Given the description of an element on the screen output the (x, y) to click on. 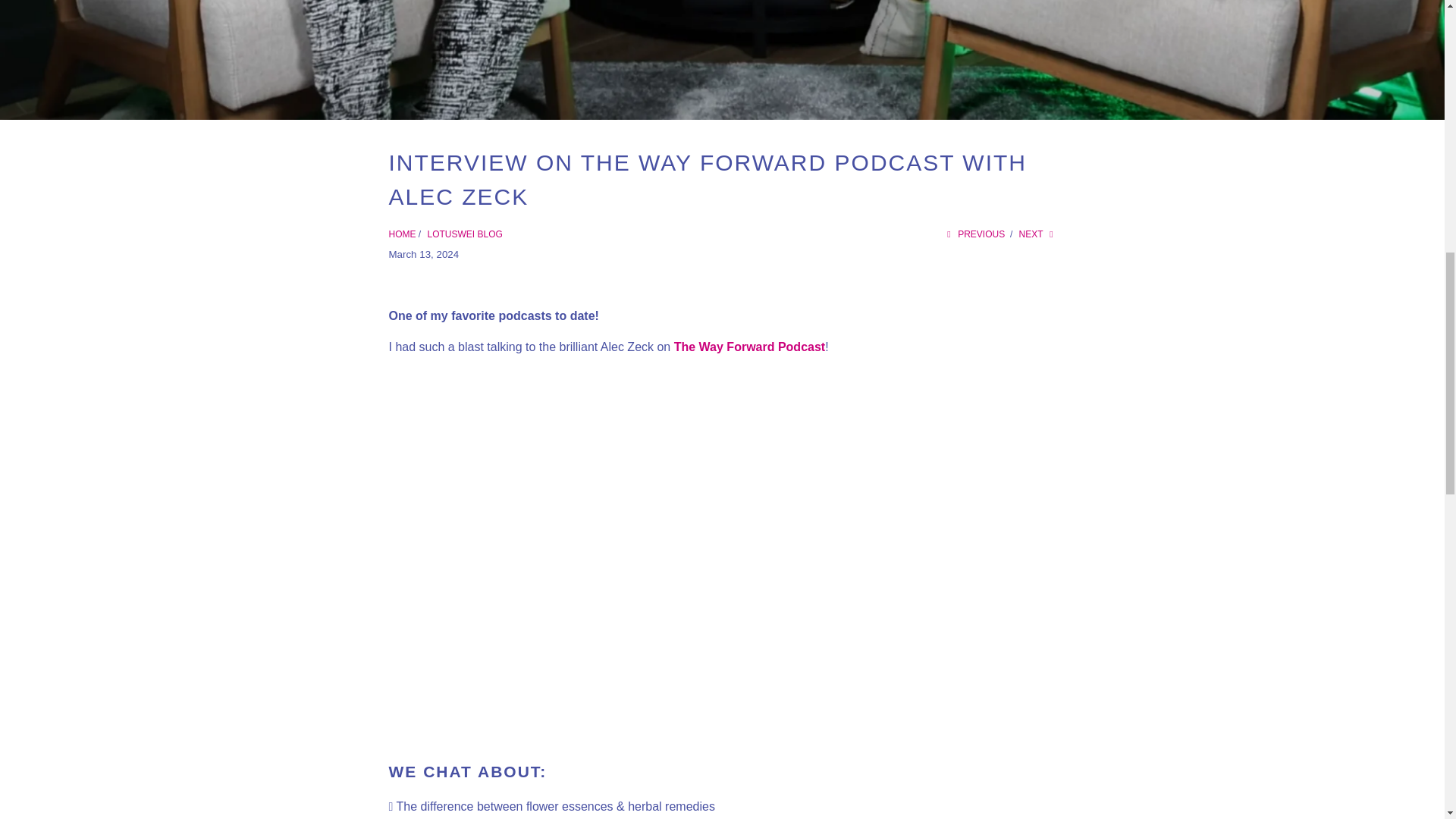
LOTUSWEI Blog (465, 234)
LOTUSWEI (401, 234)
